Given the description of an element on the screen output the (x, y) to click on. 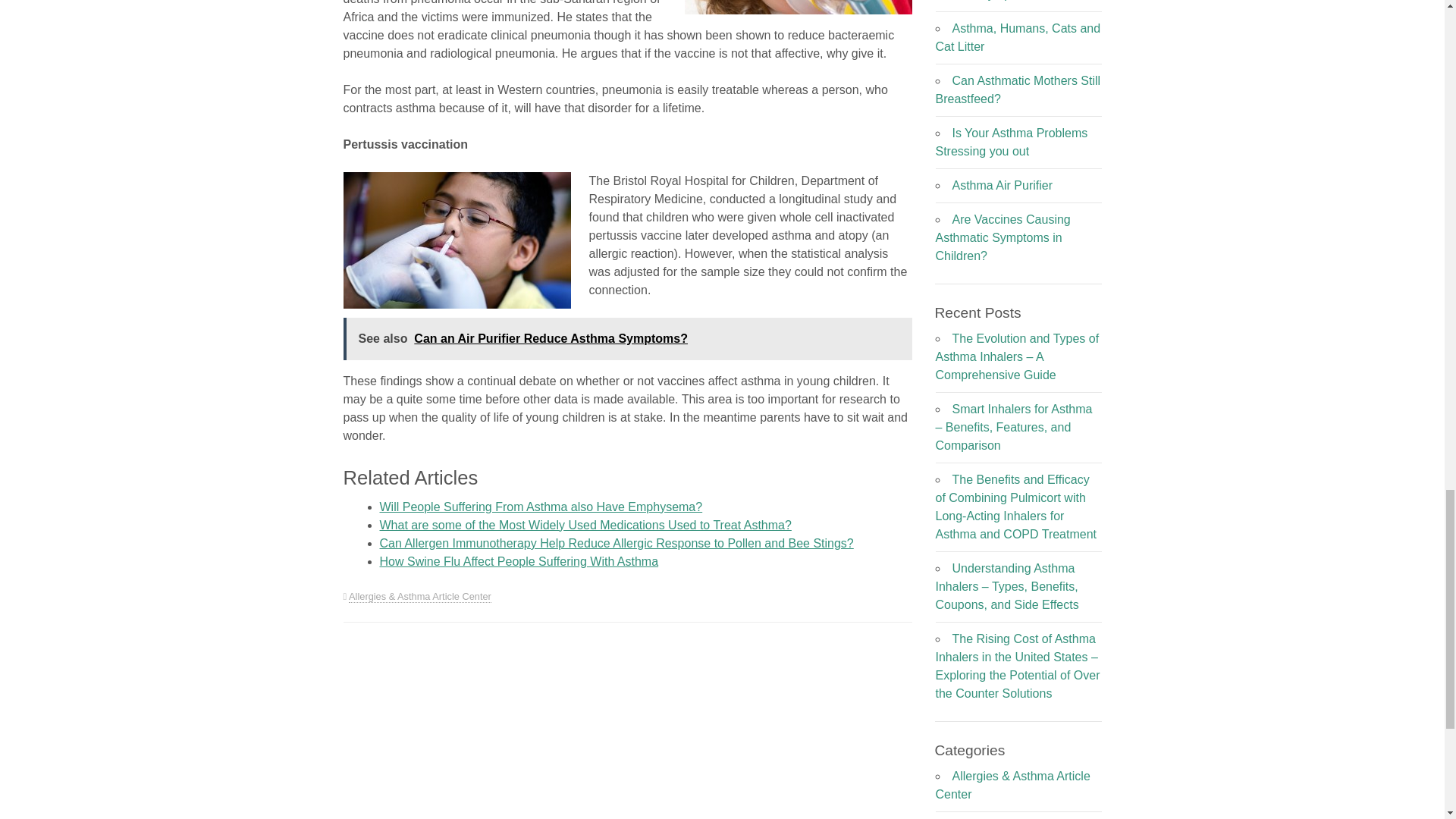
Asthma, Humans, Cats and Cat Litter (1018, 37)
See also  Can an Air Purifier Reduce Asthma Symptoms? (626, 338)
Pertussis vaccination (456, 239)
How Swine Flu Affect People Suffering With Asthma (518, 561)
Will People Suffering From Asthma also Have Emphysema? (539, 506)
How Swine Flu Affect People Suffering With Asthma (518, 561)
World Health Organization, vaccines, and asthma (797, 7)
Will People Suffering From Asthma also Have Emphysema? (539, 506)
